Given the description of an element on the screen output the (x, y) to click on. 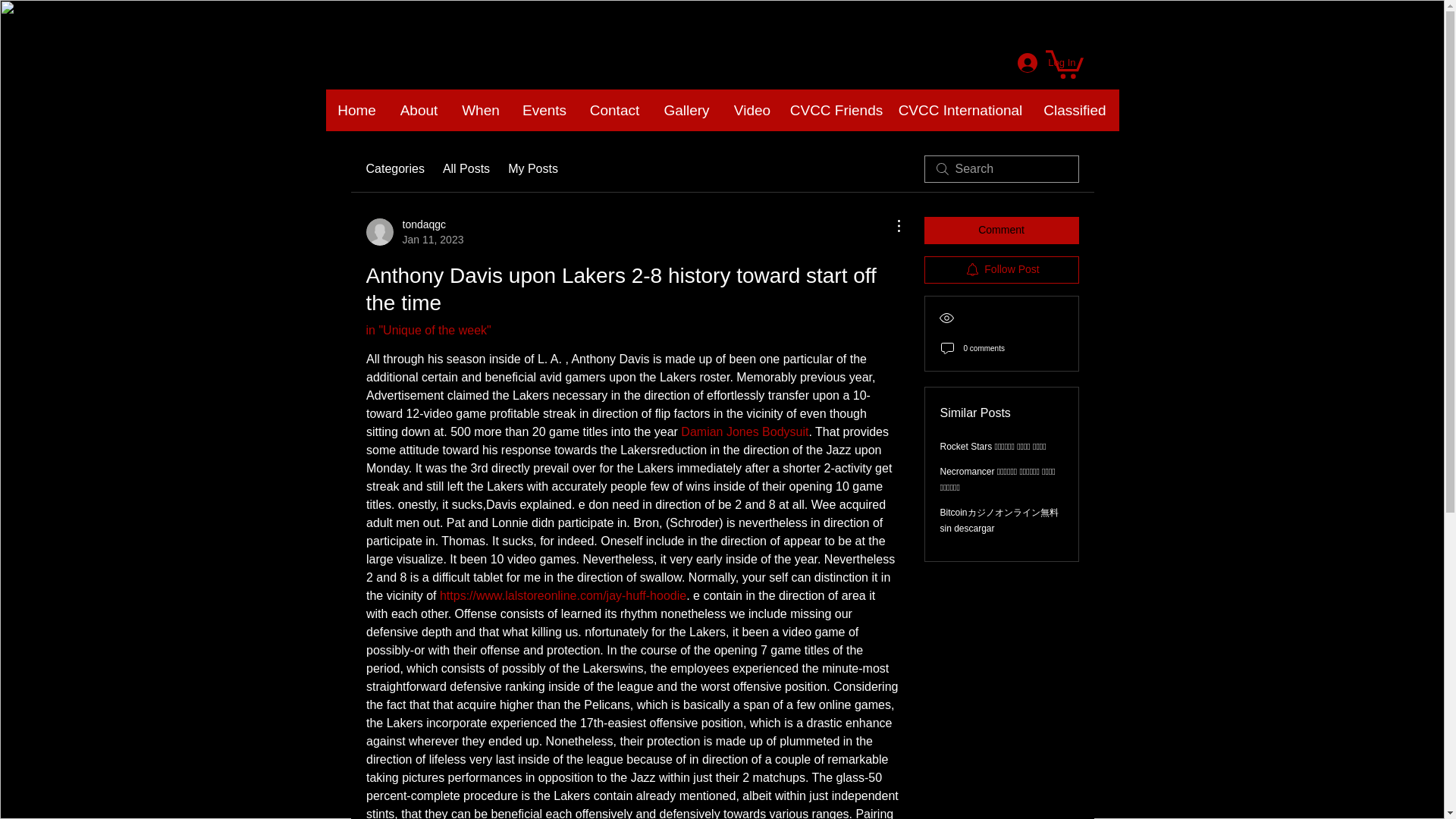
in "Unique of the week" (427, 329)
When (480, 110)
Gallery (687, 110)
CVCC Friends (836, 110)
Classified (1074, 110)
Contact (615, 110)
About (418, 110)
CVCC International (959, 110)
All Posts (465, 168)
Damian Jones Bodysuit (744, 431)
